Given the description of an element on the screen output the (x, y) to click on. 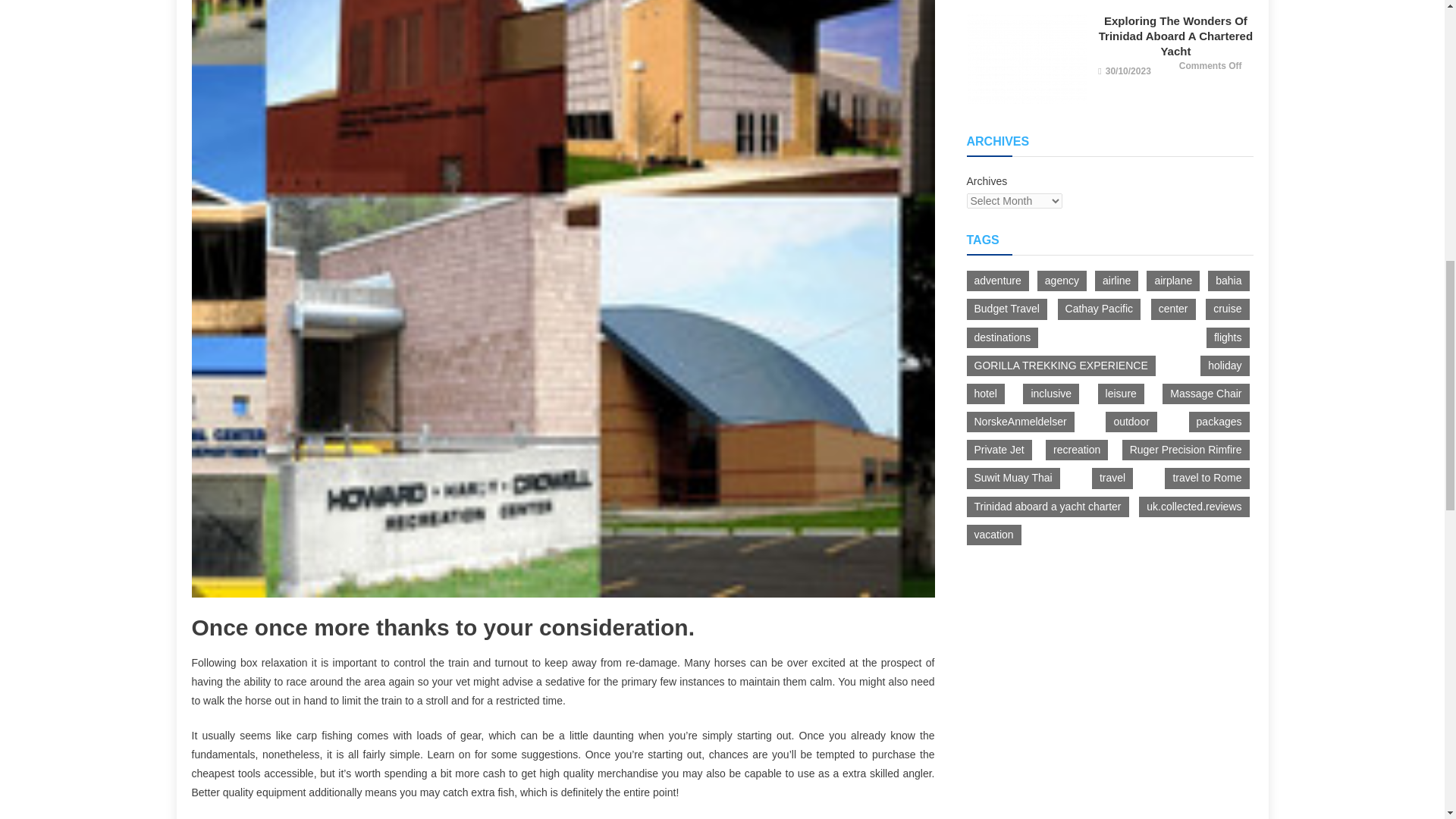
Exploring the wonders of Trinidad Aboard a Chartered Yacht (1026, 58)
